Given the description of an element on the screen output the (x, y) to click on. 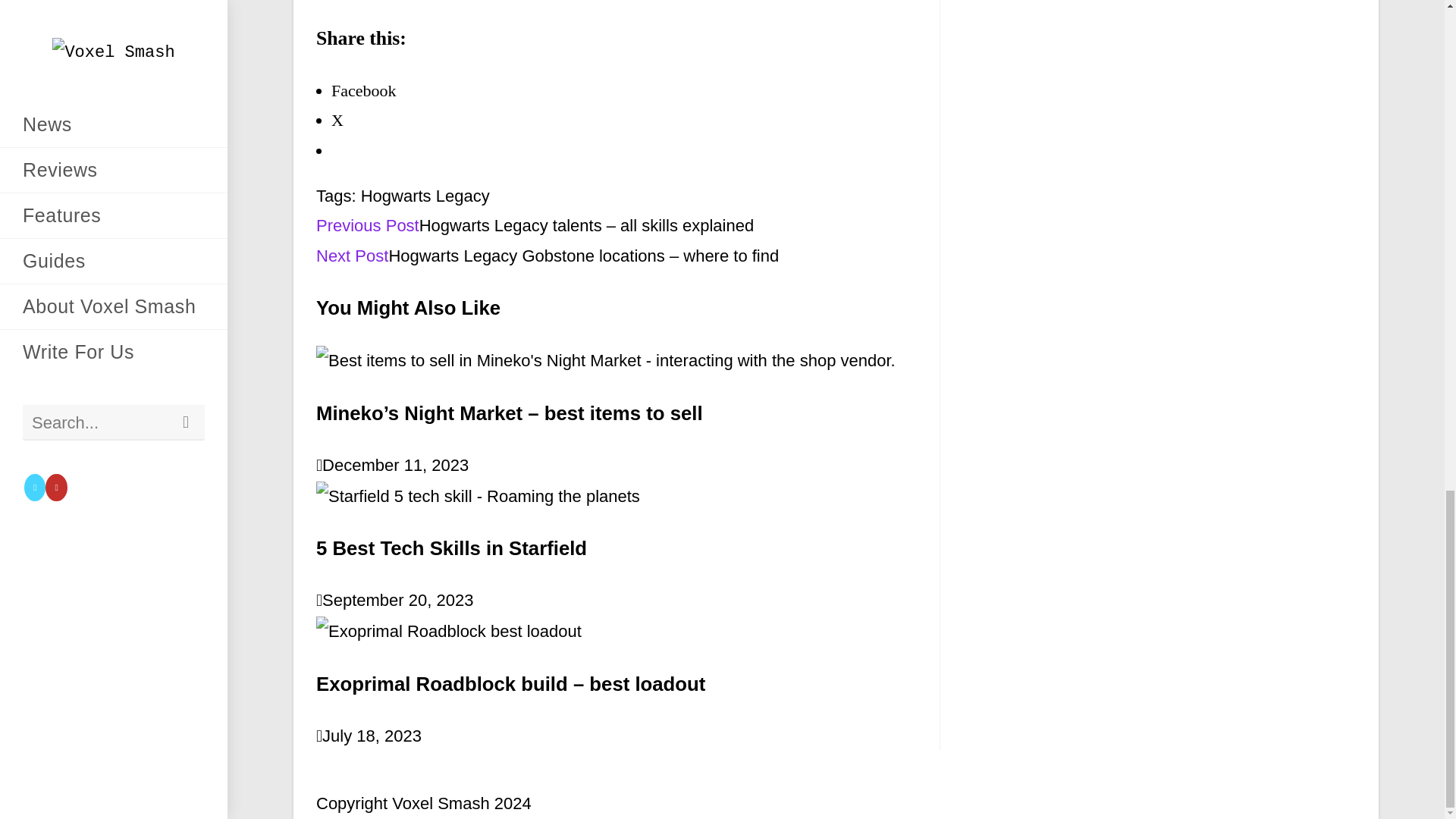
Click to share on Facebook (363, 90)
Hogwarts Legacy (425, 195)
Click to share on X (337, 119)
Facebook (363, 90)
5 Best Tech Skills in Starfield (450, 547)
X (337, 119)
